Given the description of an element on the screen output the (x, y) to click on. 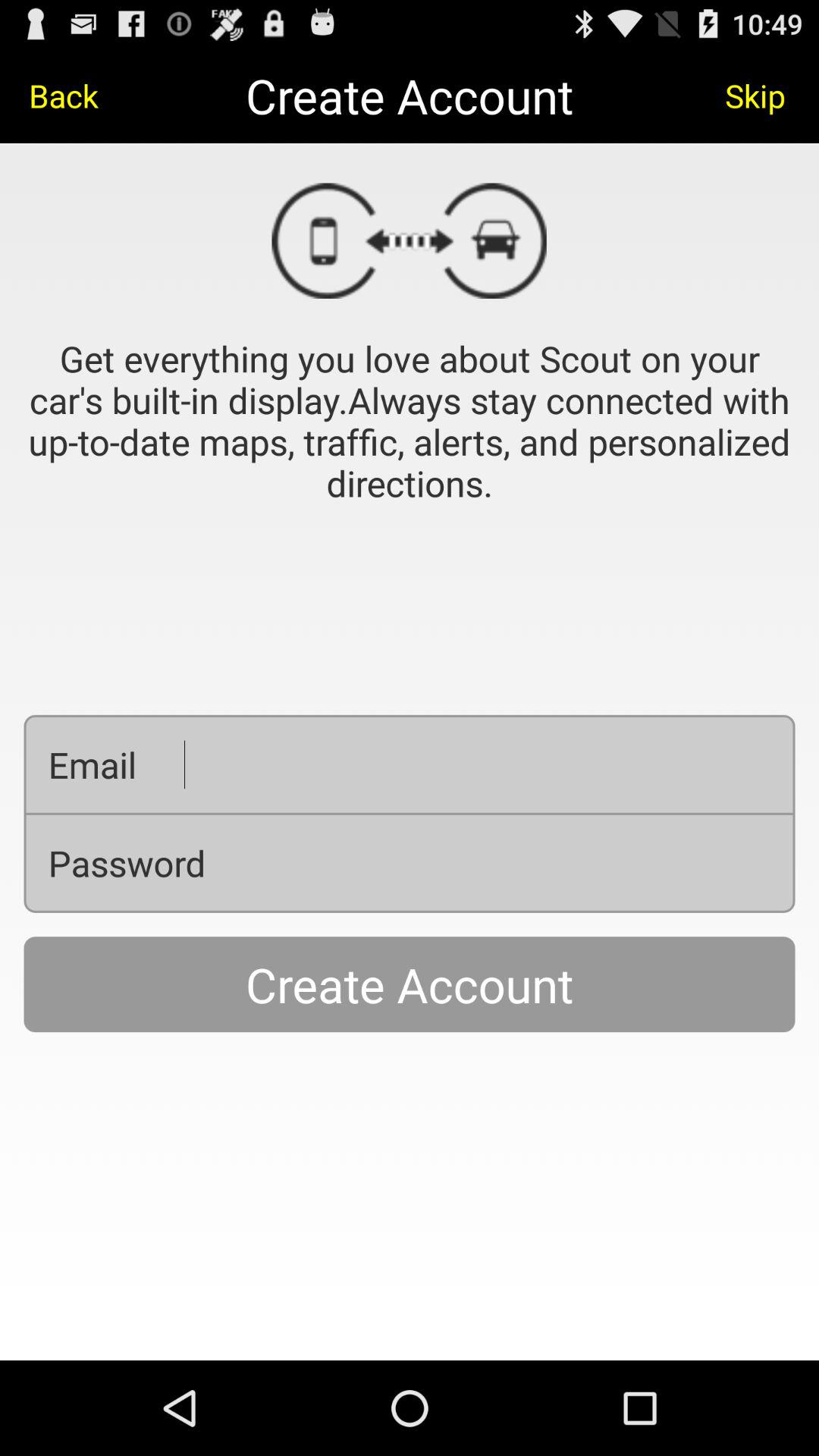
it is used to create an email account (477, 764)
